Given the description of an element on the screen output the (x, y) to click on. 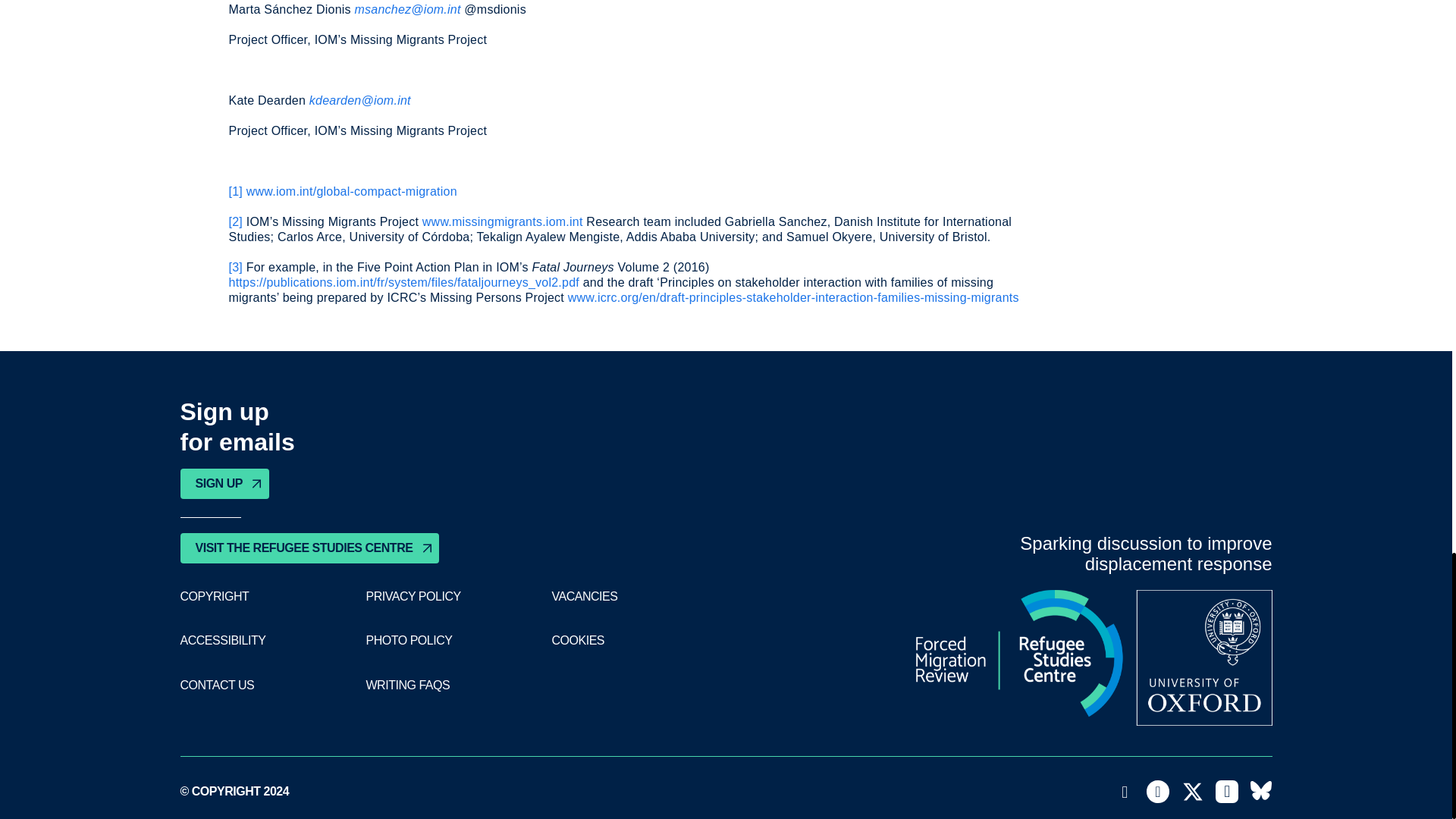
ACCESSIBILITY (223, 640)
PHOTO POLICY (408, 640)
SIGN UP (224, 483)
VISIT THE REFUGEE STUDIES CENTRE (309, 548)
WRITING FAQS (407, 685)
LinkedIn (1227, 791)
PRIVACY POLICY (412, 596)
CONTACT US (217, 685)
Facebook (1158, 791)
Twitter (1192, 791)
